Given the description of an element on the screen output the (x, y) to click on. 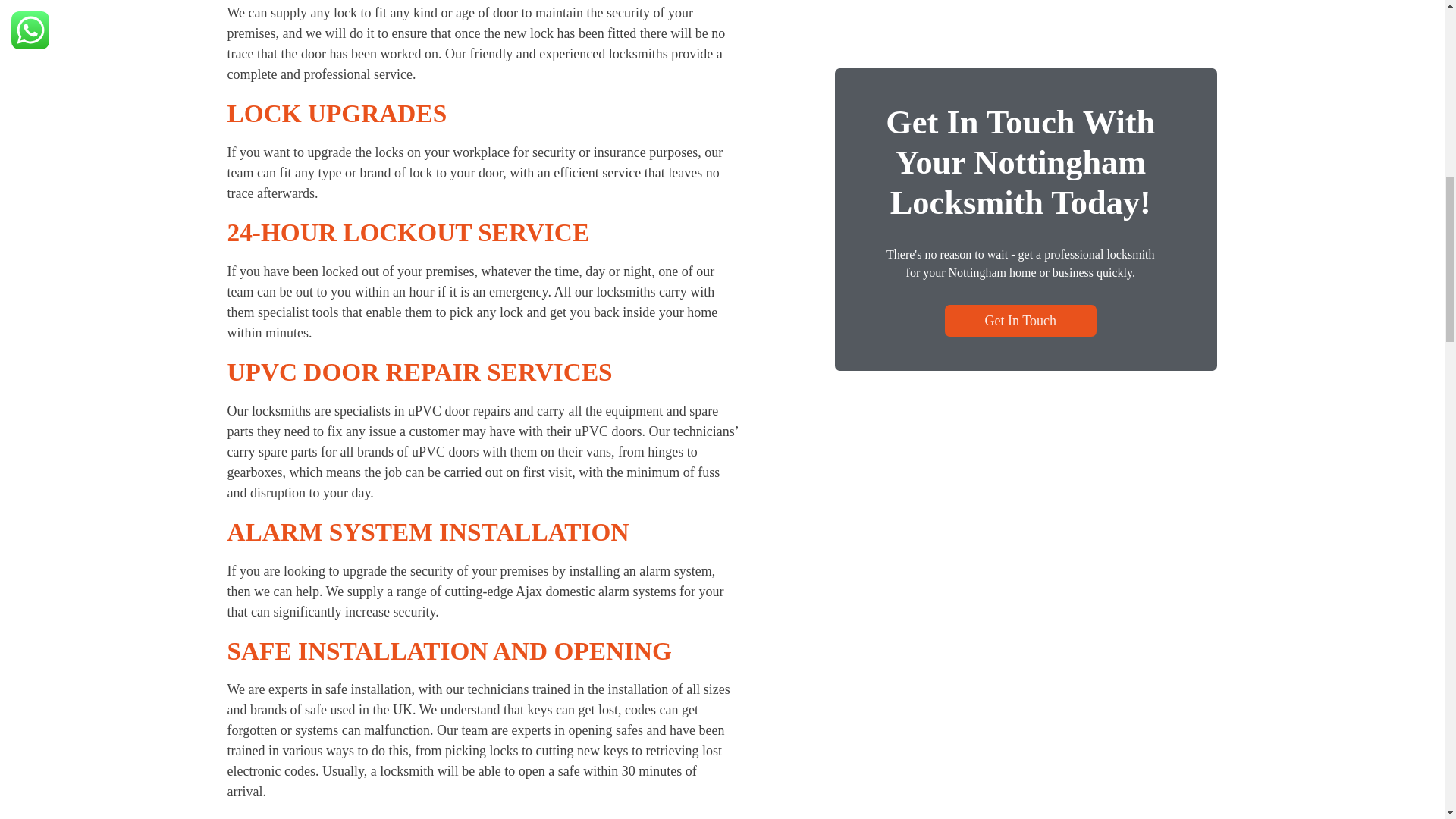
Get In Touch (1020, 1)
